Given the description of an element on the screen output the (x, y) to click on. 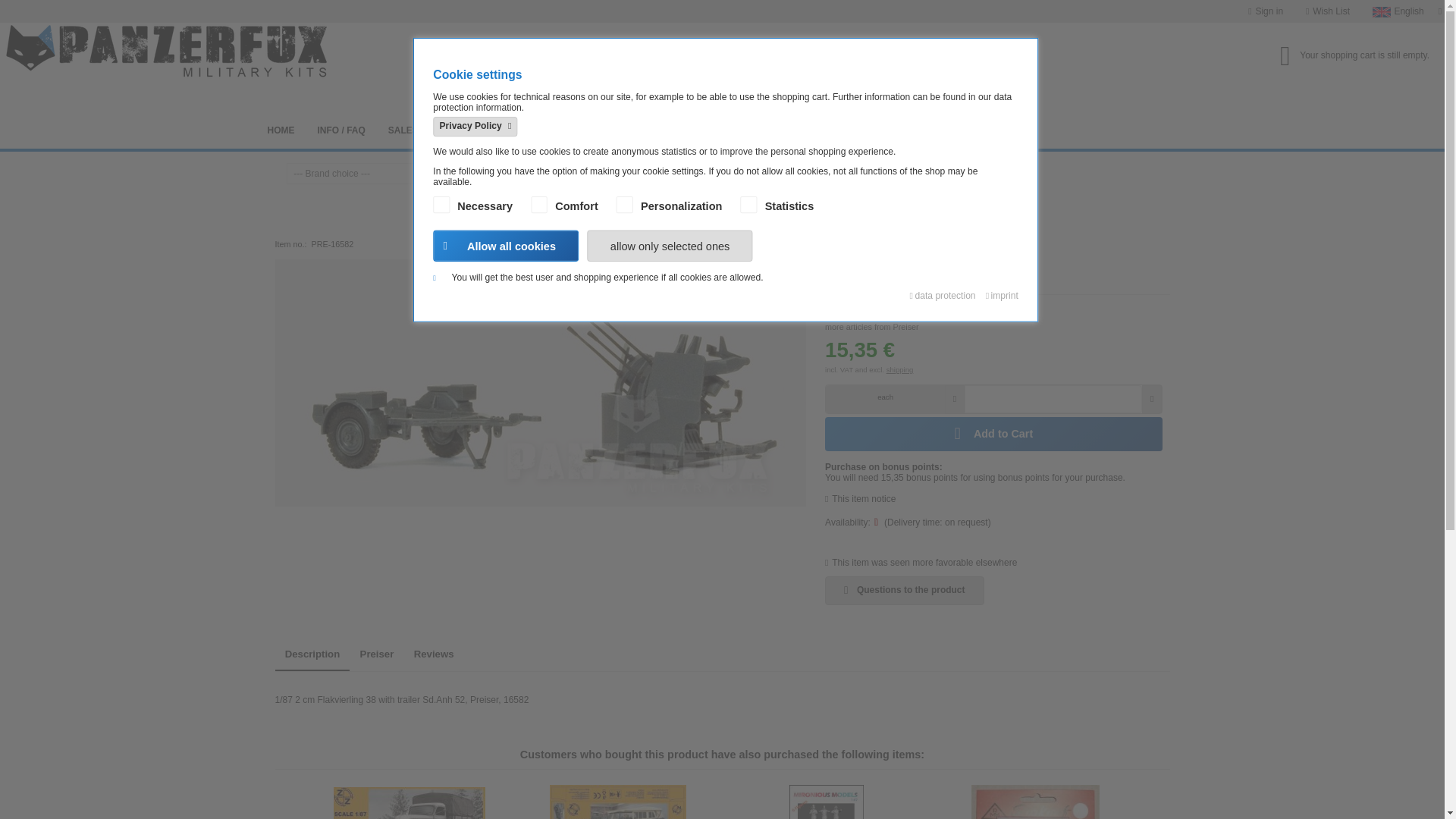
shipping (900, 369)
Sign in (1264, 10)
Panzerfux Modellbau - Home (75, 45)
more articles from Preiser (993, 321)
Home (280, 130)
This item was seen more favorable elsewhere (920, 562)
BRANDS (460, 130)
Add to Cart (993, 433)
Just arrived (505, 167)
SALES (403, 130)
Home (464, 167)
Login and register (1264, 10)
Start search (868, 68)
Wish List (1327, 10)
HOME (280, 130)
